Given the description of an element on the screen output the (x, y) to click on. 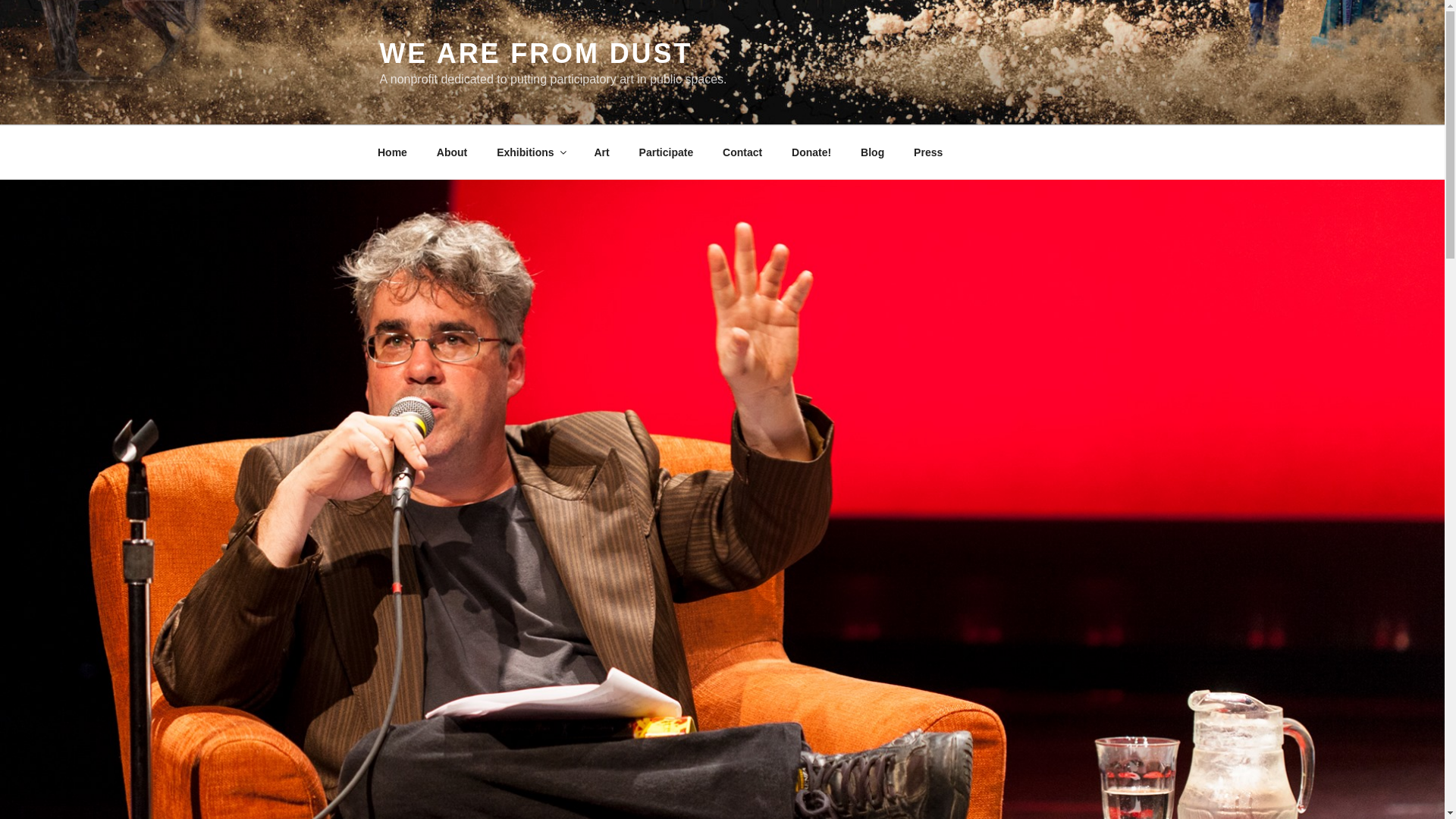
Art (601, 151)
Blog (872, 151)
Home (392, 151)
Participate (666, 151)
WE ARE FROM DUST (535, 52)
Press (928, 151)
Exhibitions (530, 151)
About (451, 151)
Contact (743, 151)
Donate! (811, 151)
